Given the description of an element on the screen output the (x, y) to click on. 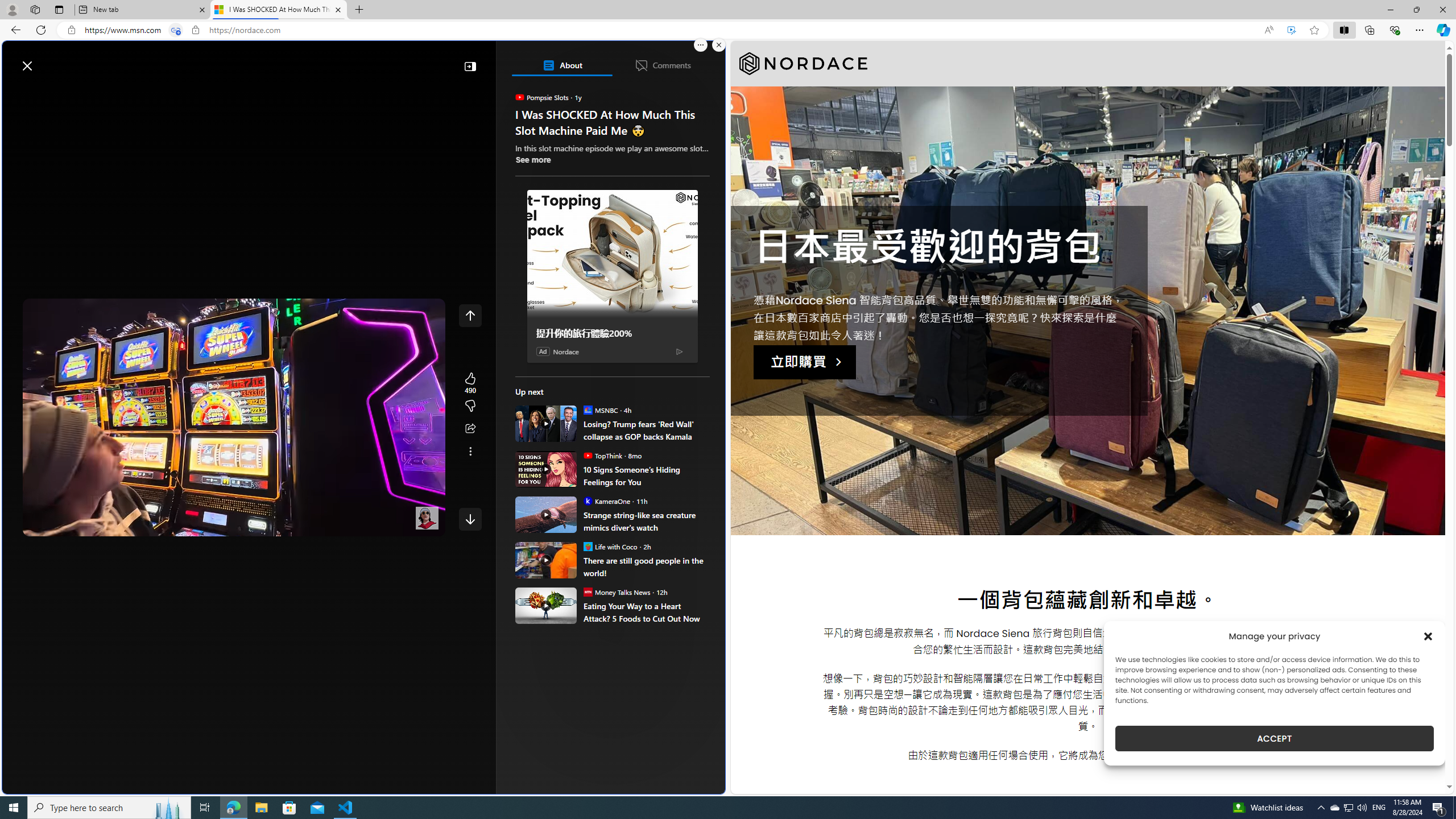
Money Talks News (587, 591)
Class: ytp-subtitles-button-icon (343, 525)
Share this story (469, 428)
Close split screen. (719, 45)
Class: control icon-only (469, 315)
Comments (662, 64)
Web search (161, 60)
MSNBC (587, 409)
TopThink TopThink (601, 455)
